Given the description of an element on the screen output the (x, y) to click on. 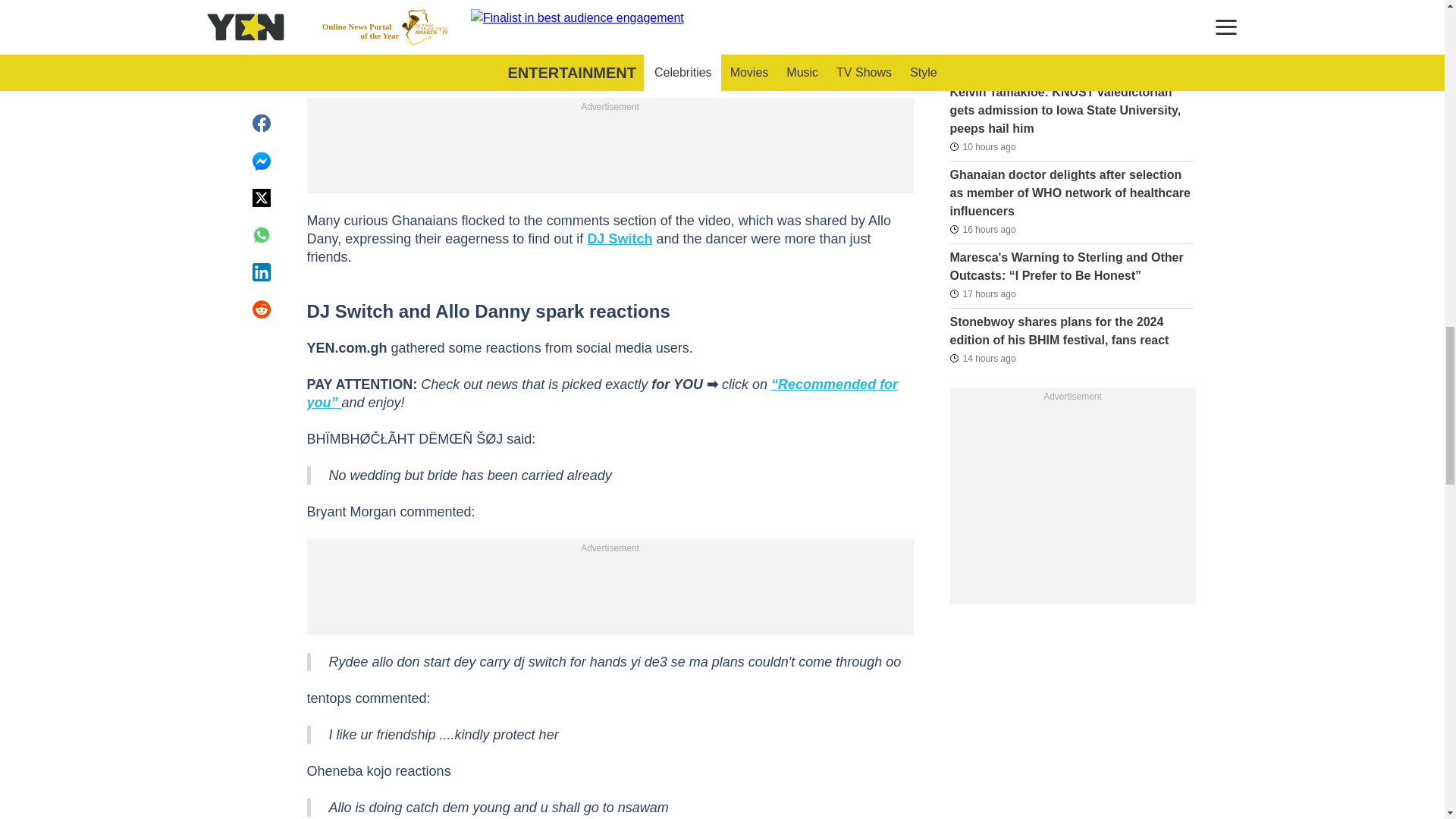
2024-08-29T11:29:10Z (981, 357)
2024-08-29T08:08:50Z (981, 294)
2024-08-29T09:25:48Z (981, 229)
2024-08-29T15:23:42Z (981, 147)
2024-08-29T17:35:07Z (979, 63)
